Given the description of an element on the screen output the (x, y) to click on. 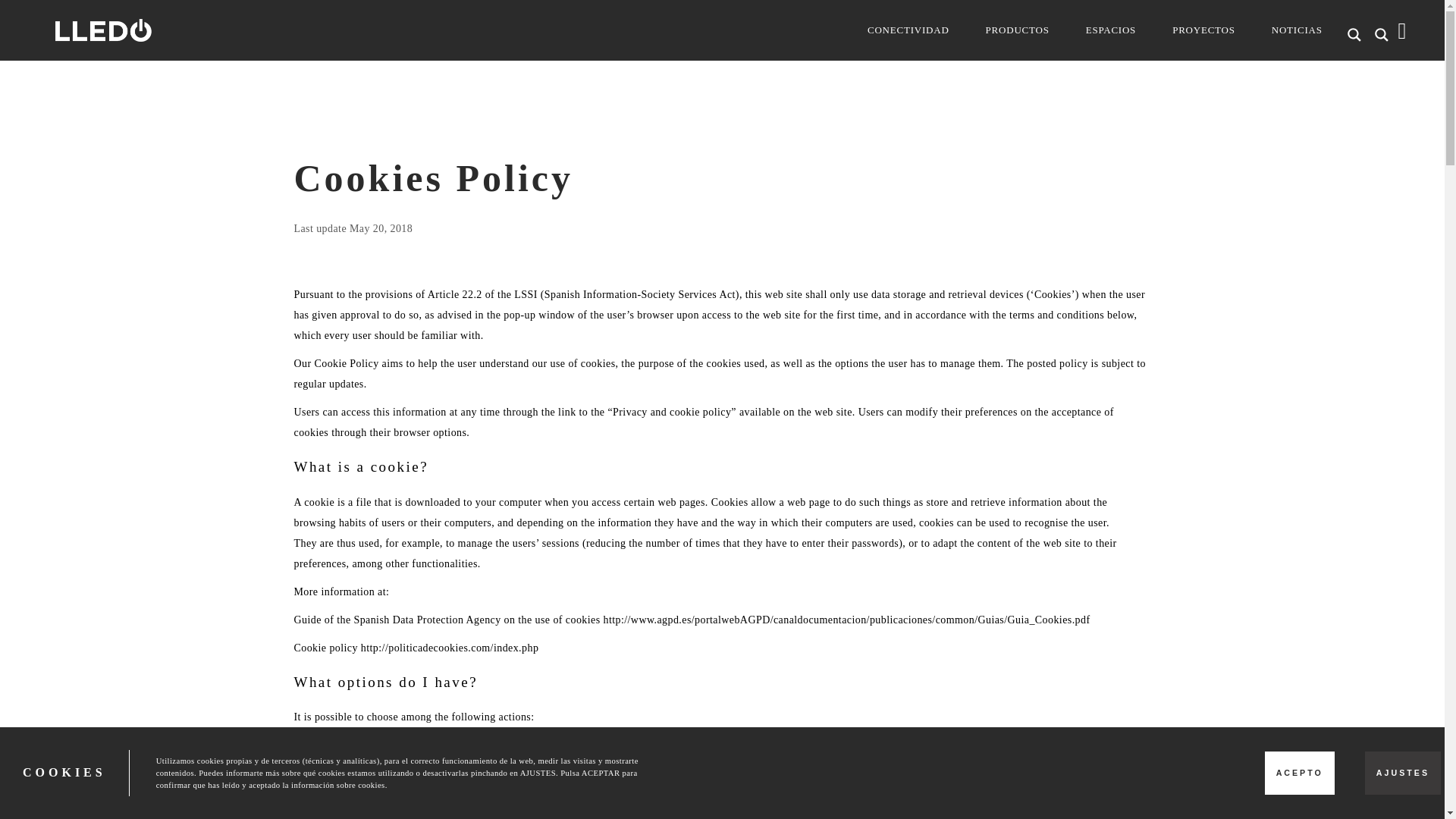
NOTICIAS (1296, 30)
AJUSTES (1403, 772)
PRODUCTOS (1017, 30)
ESPACIOS (1110, 30)
PROYECTOS (1203, 30)
CONECTIVIDAD (908, 30)
ACEPTO (1300, 772)
